Given the description of an element on the screen output the (x, y) to click on. 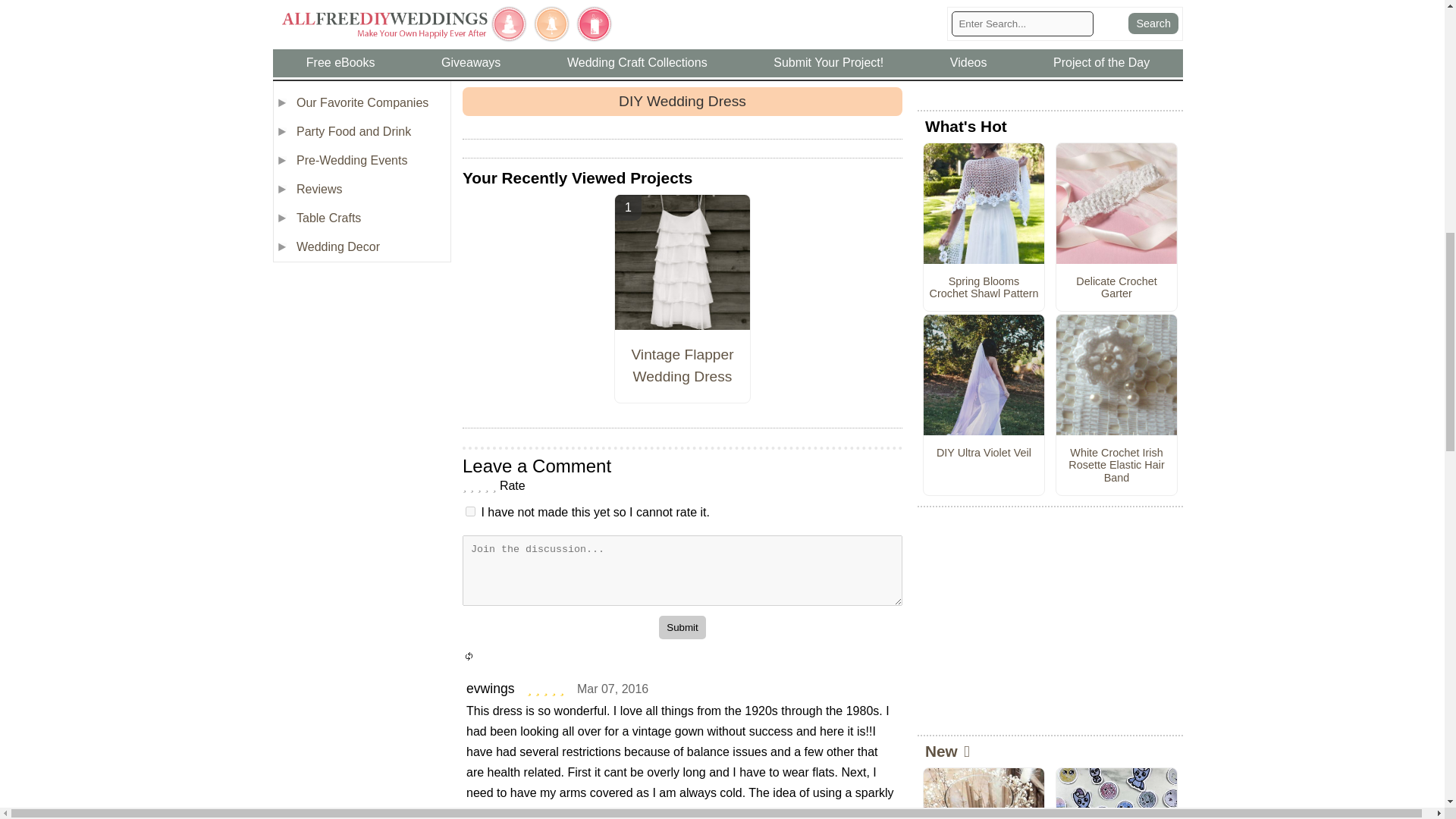
Submit (681, 627)
1 (470, 511)
